Given the description of an element on the screen output the (x, y) to click on. 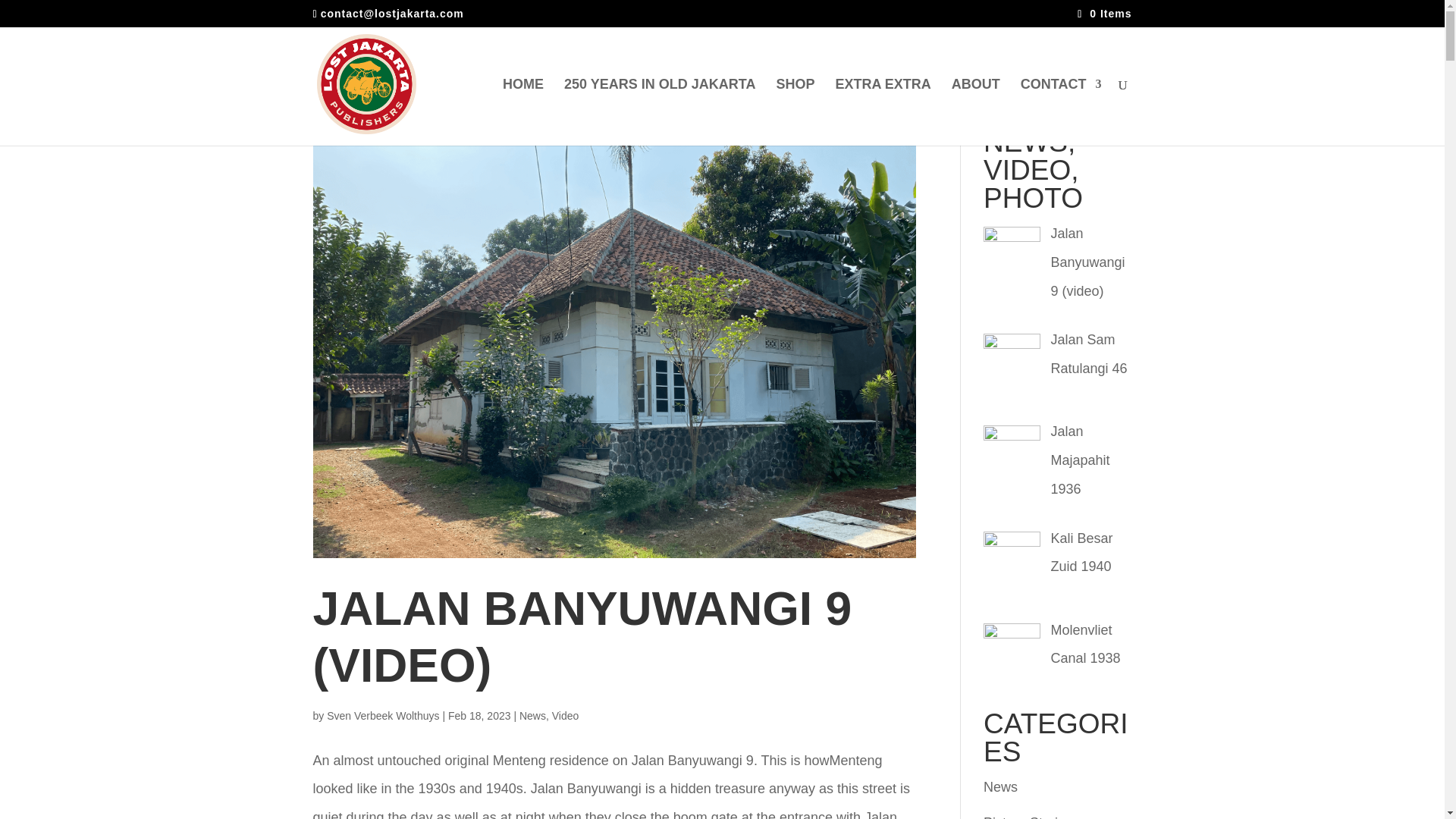
Jalan Sam Ratulangi 46 (1088, 353)
Posts by Sven Verbeek Wolthuys (382, 715)
Sven Verbeek Wolthuys (382, 715)
CONTACT (1061, 111)
250 YEARS IN OLD JAKARTA (659, 111)
News (532, 715)
0 Items (1104, 13)
EXTRA EXTRA (882, 111)
Kali Besar Zuid 1940 (1082, 552)
Video (565, 715)
